Given the description of an element on the screen output the (x, y) to click on. 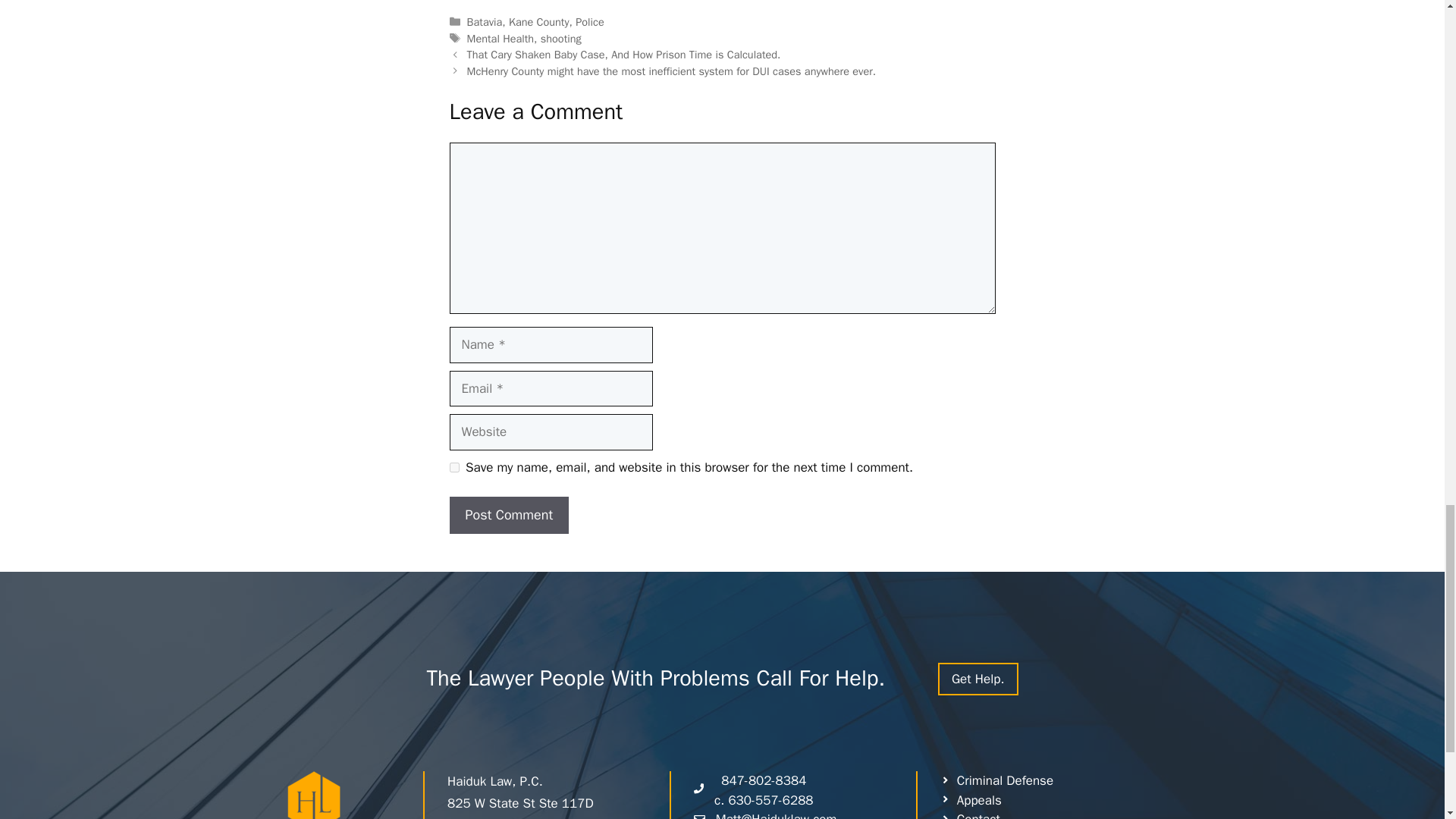
yes (453, 467)
Post Comment (508, 514)
